Given the description of an element on the screen output the (x, y) to click on. 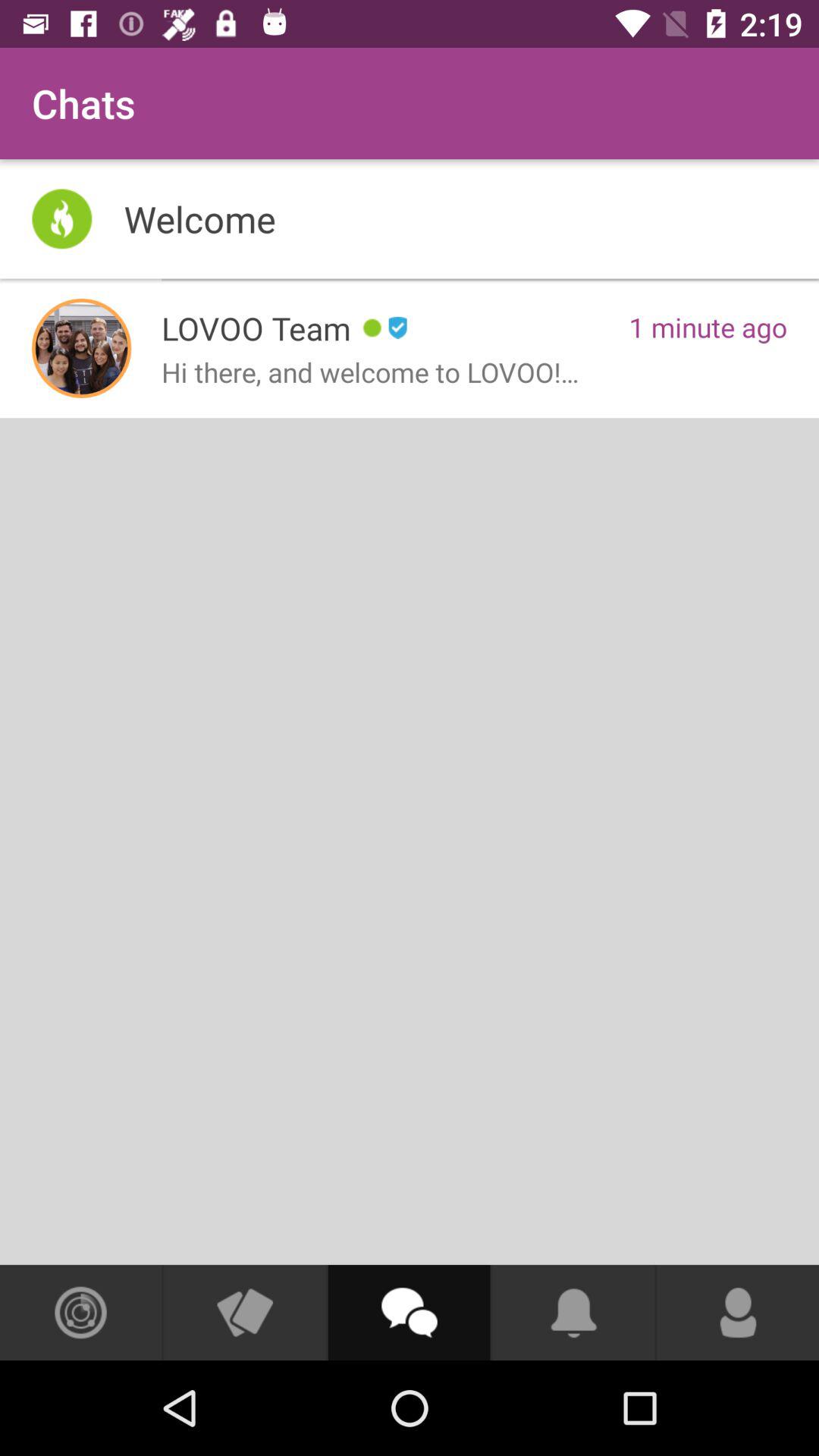
open your profile (737, 1312)
